Given the description of an element on the screen output the (x, y) to click on. 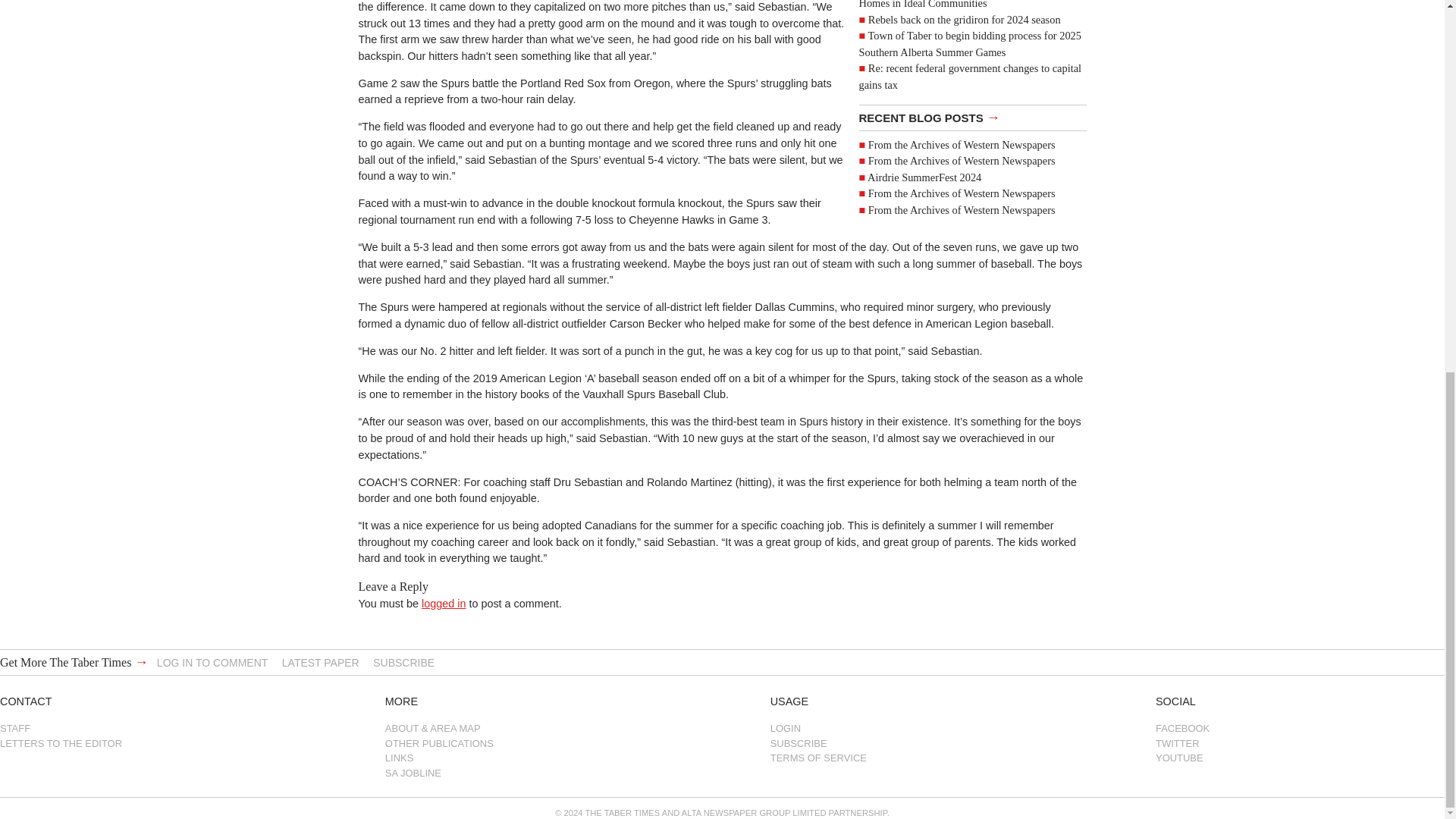
From the Archives of Western Newspapers (961, 160)
From the Archives of Western Newspapers (961, 143)
Rebels back on the gridiron for 2024 season (964, 19)
From the Archives of Western Newspapers (961, 193)
From the Archives of Western Newspapers (961, 209)
Airdrie SummerFest 2024 (924, 177)
Re: recent federal government changes to capital gains tax (970, 76)
